Given the description of an element on the screen output the (x, y) to click on. 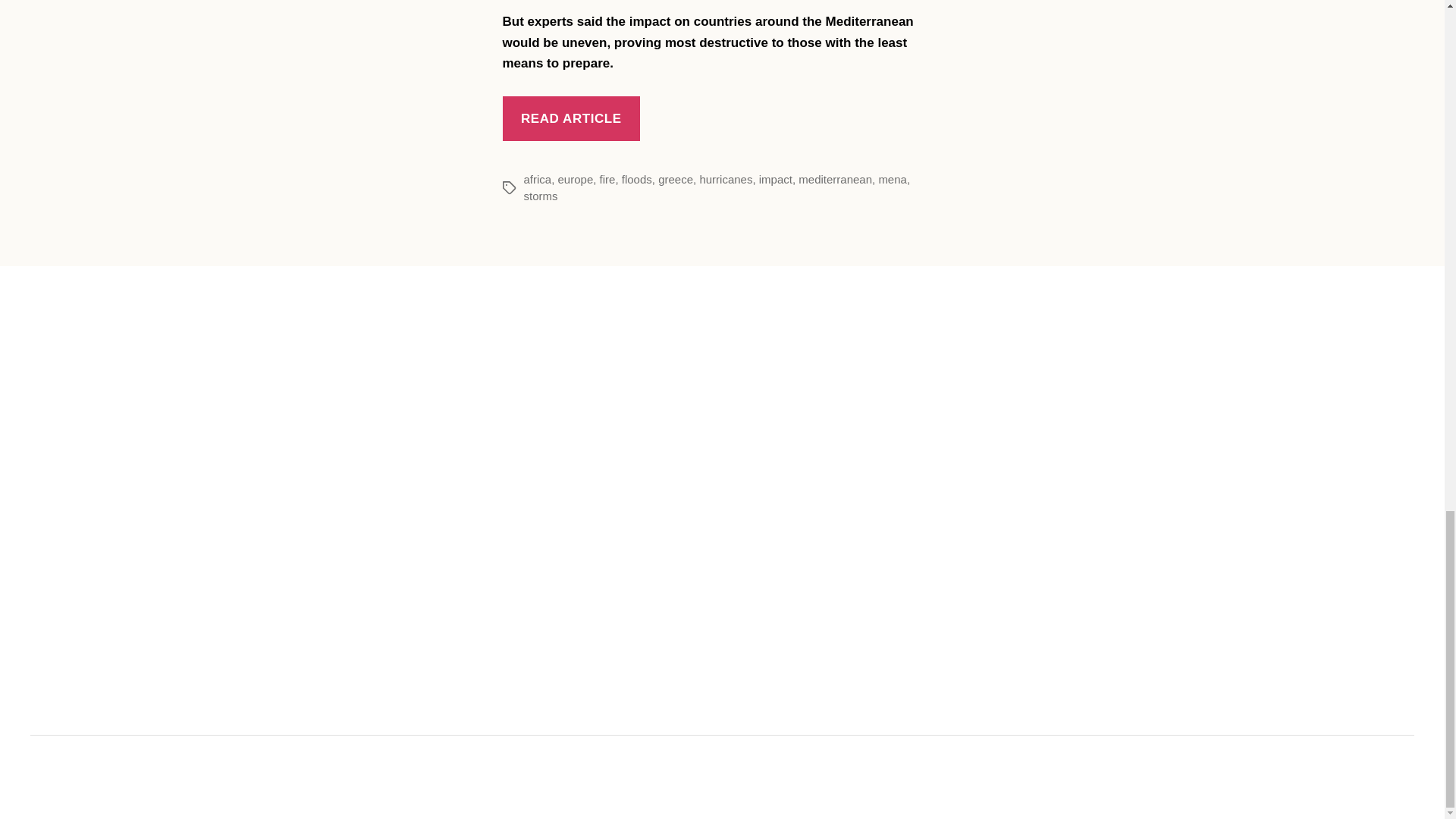
Contact me by email (745, 777)
